Given the description of an element on the screen output the (x, y) to click on. 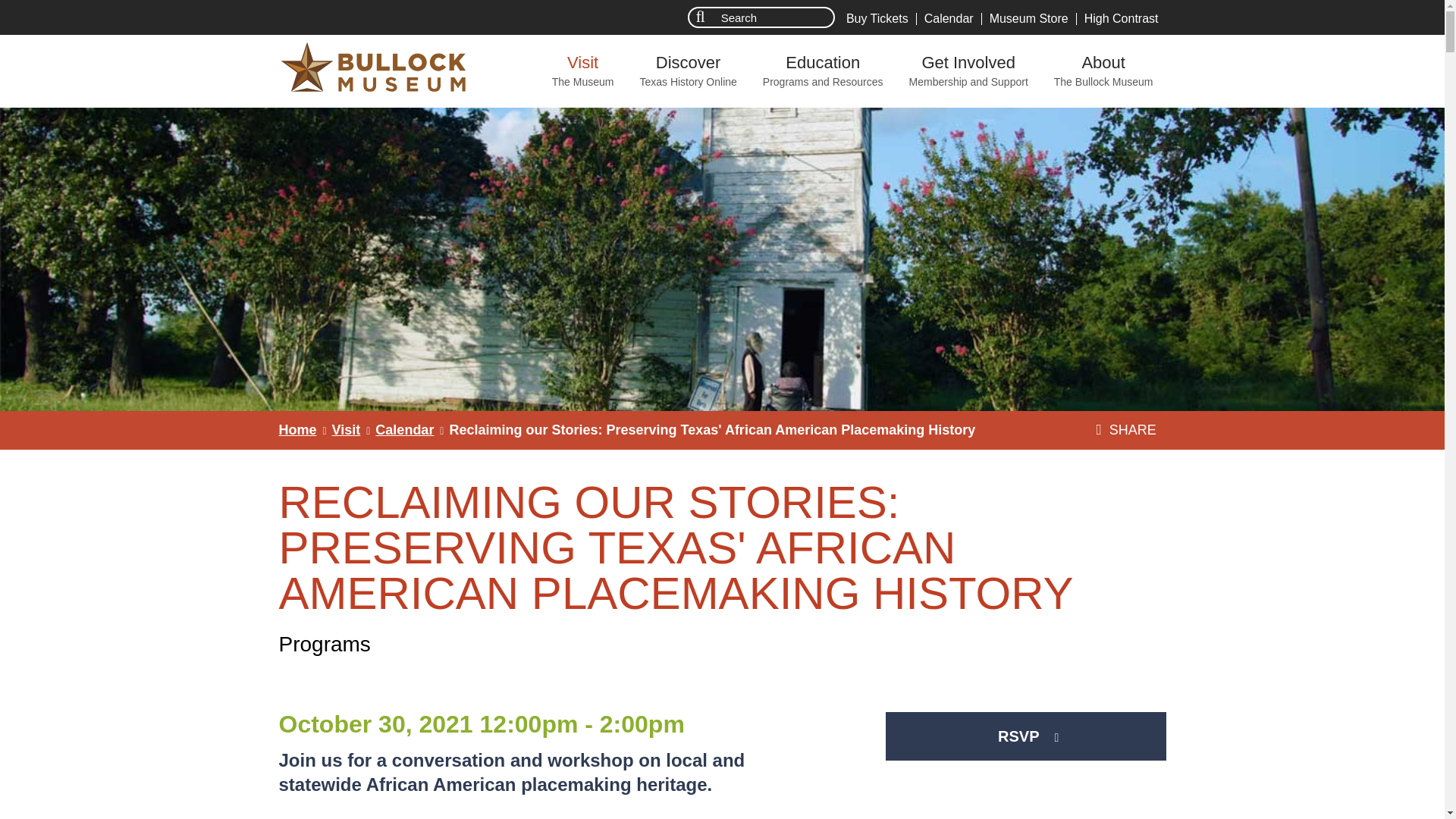
Buy Tickets (877, 19)
Calendar (949, 19)
The Story of Texas (582, 71)
Museum Store (687, 71)
High Contrast (298, 429)
Bullock Texas State History Museum (1029, 19)
